Given the description of an element on the screen output the (x, y) to click on. 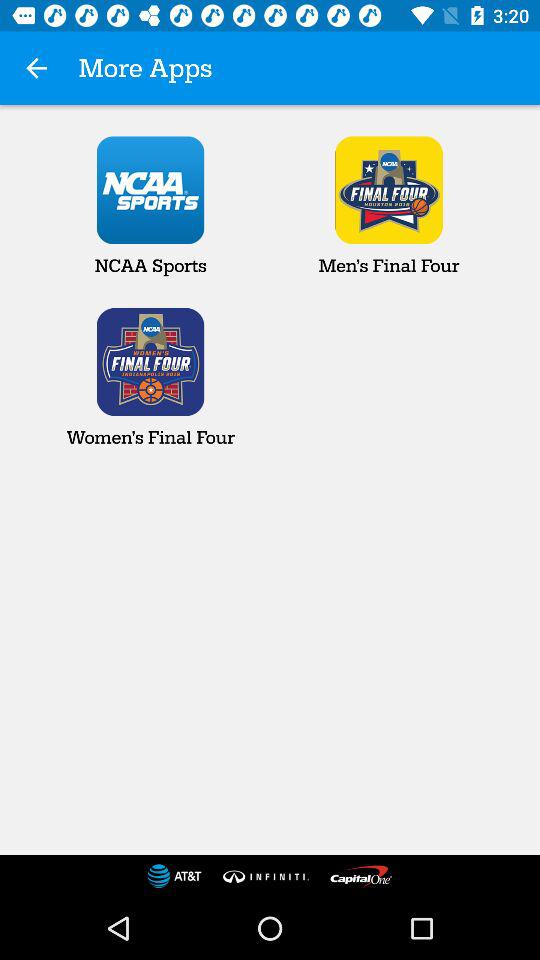
launch the app below more apps (150, 206)
